Given the description of an element on the screen output the (x, y) to click on. 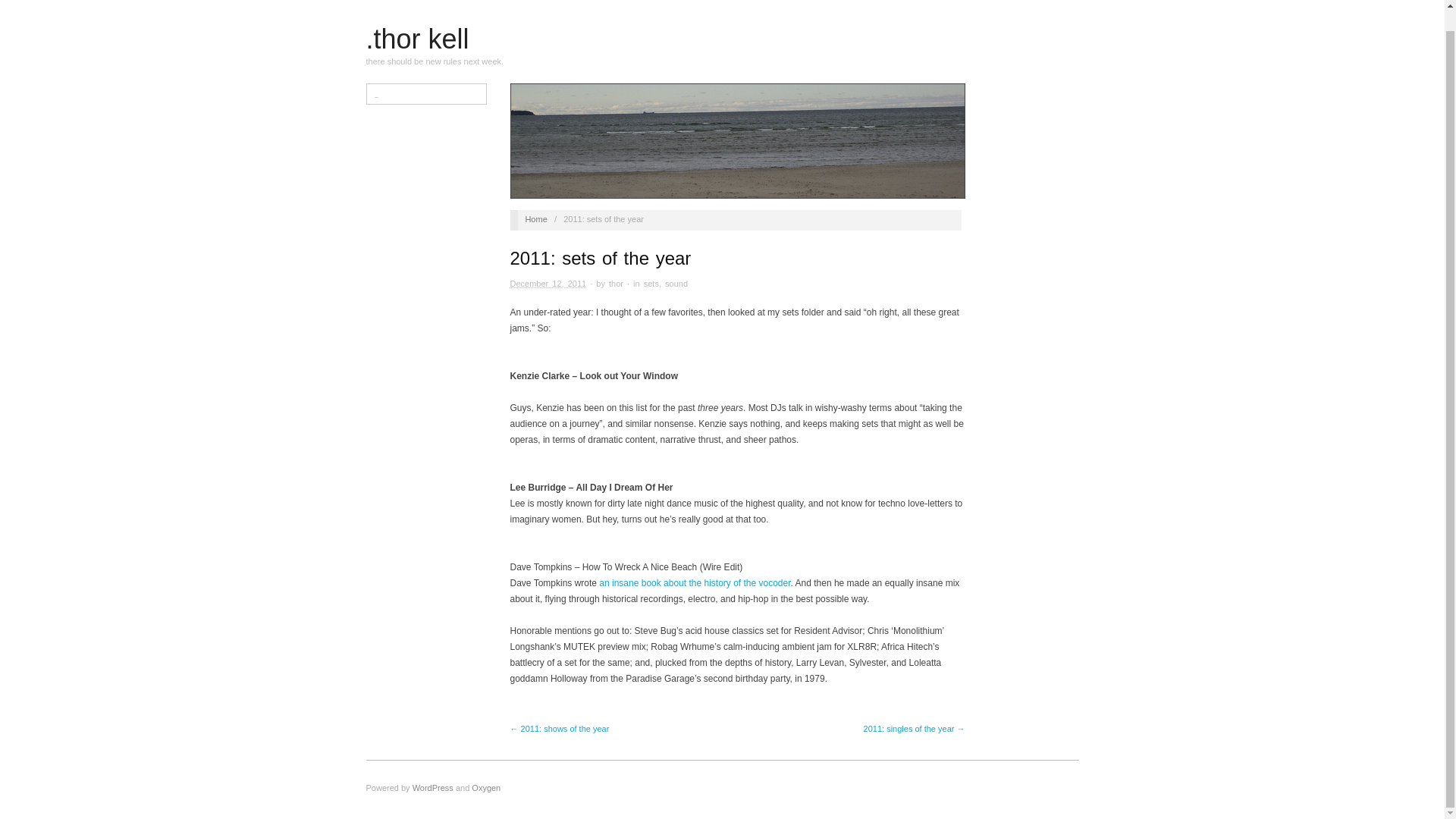
thor (615, 283)
Monday, December 12th, 2011, 12:04 pm (548, 283)
WordPress (432, 787)
Oxygen (485, 787)
an insane book about the history of the vocoder (694, 583)
State-of-the-art semantic personal publishing platform (432, 787)
sets (651, 283)
.thor kell (535, 218)
thor (615, 283)
sound (676, 283)
